Given the description of an element on the screen output the (x, y) to click on. 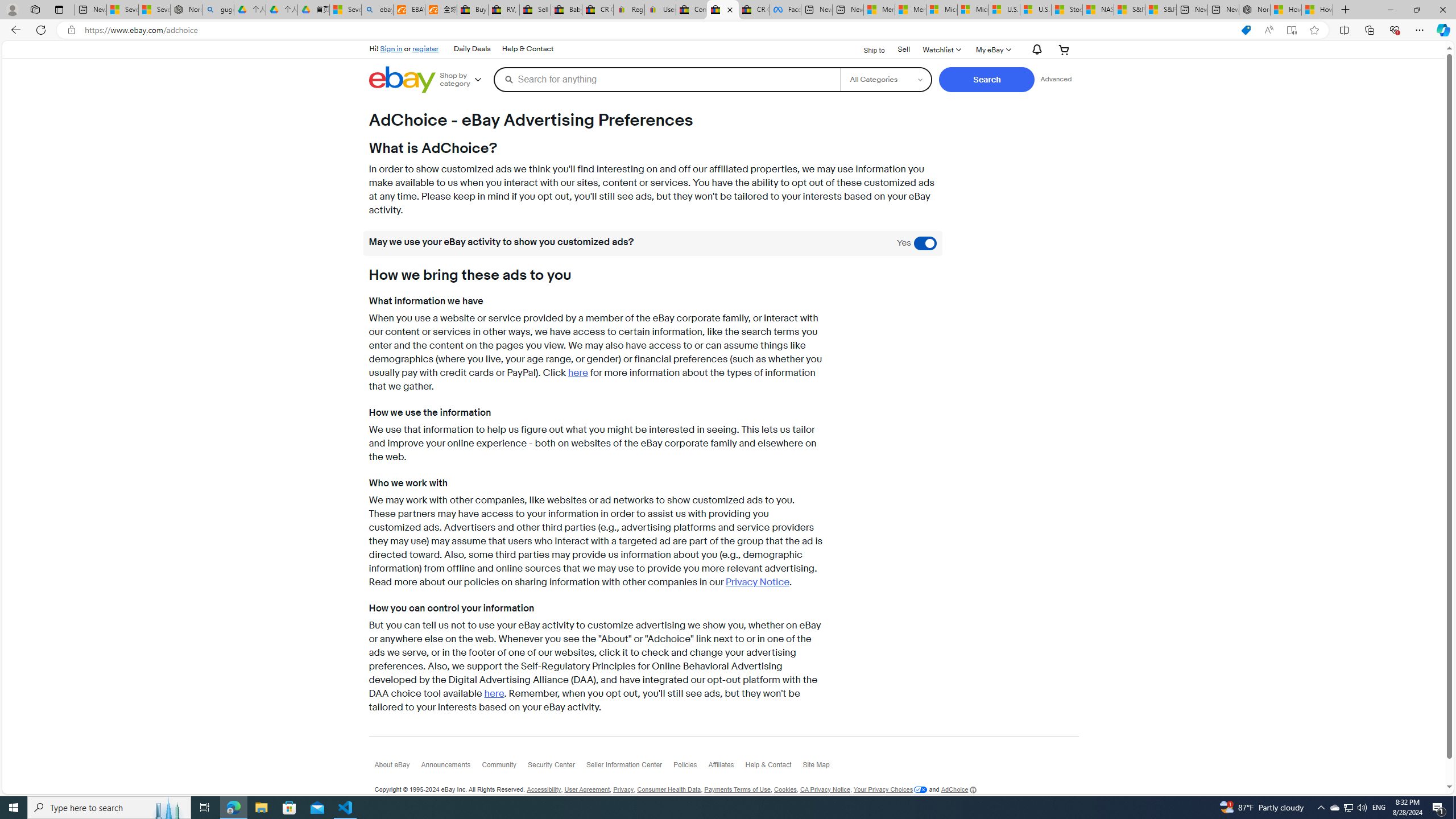
Expand Cart (1064, 49)
eBay Home (401, 79)
Shop by category (464, 79)
Policies (690, 767)
Consumer Health Data Privacy Policy - eBay Inc. (691, 9)
Site Map (821, 767)
Ship to (866, 50)
Help & Contact (774, 767)
AdChoice - eBay Advertising Preferences (722, 9)
Sell (904, 49)
